Given the description of an element on the screen output the (x, y) to click on. 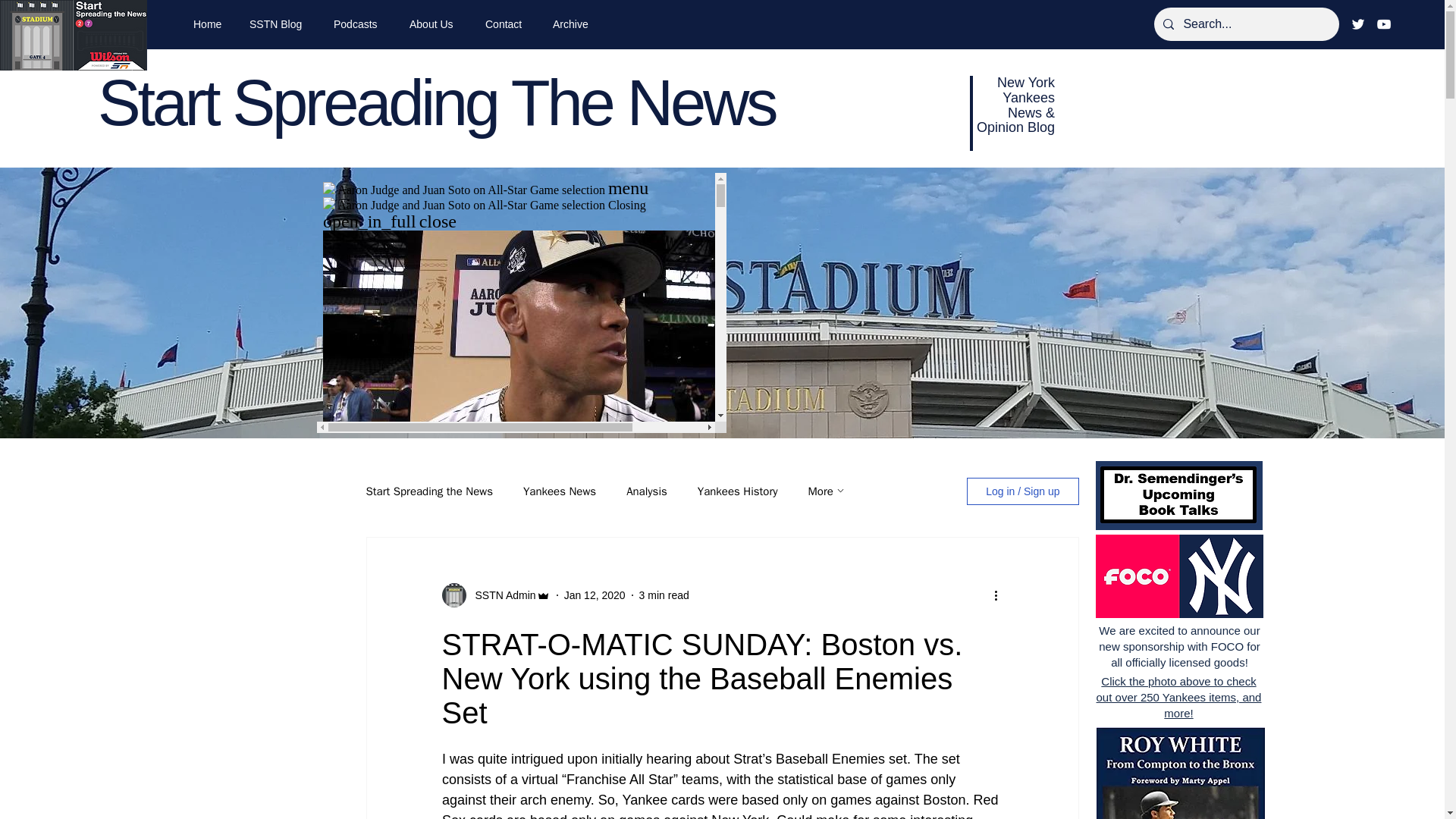
About Us (435, 24)
SSTN Admin (500, 594)
SSTN Blog (279, 24)
Podcasts (359, 24)
3 min read (663, 594)
Analysis (646, 490)
Contact (507, 24)
Start Spreading The News (435, 102)
Jan 12, 2020 (595, 594)
Yankees History (737, 490)
Embedded Content (521, 302)
Archive (574, 24)
Start Spreading the News (428, 490)
Home (210, 24)
Yankees News (558, 490)
